Given the description of an element on the screen output the (x, y) to click on. 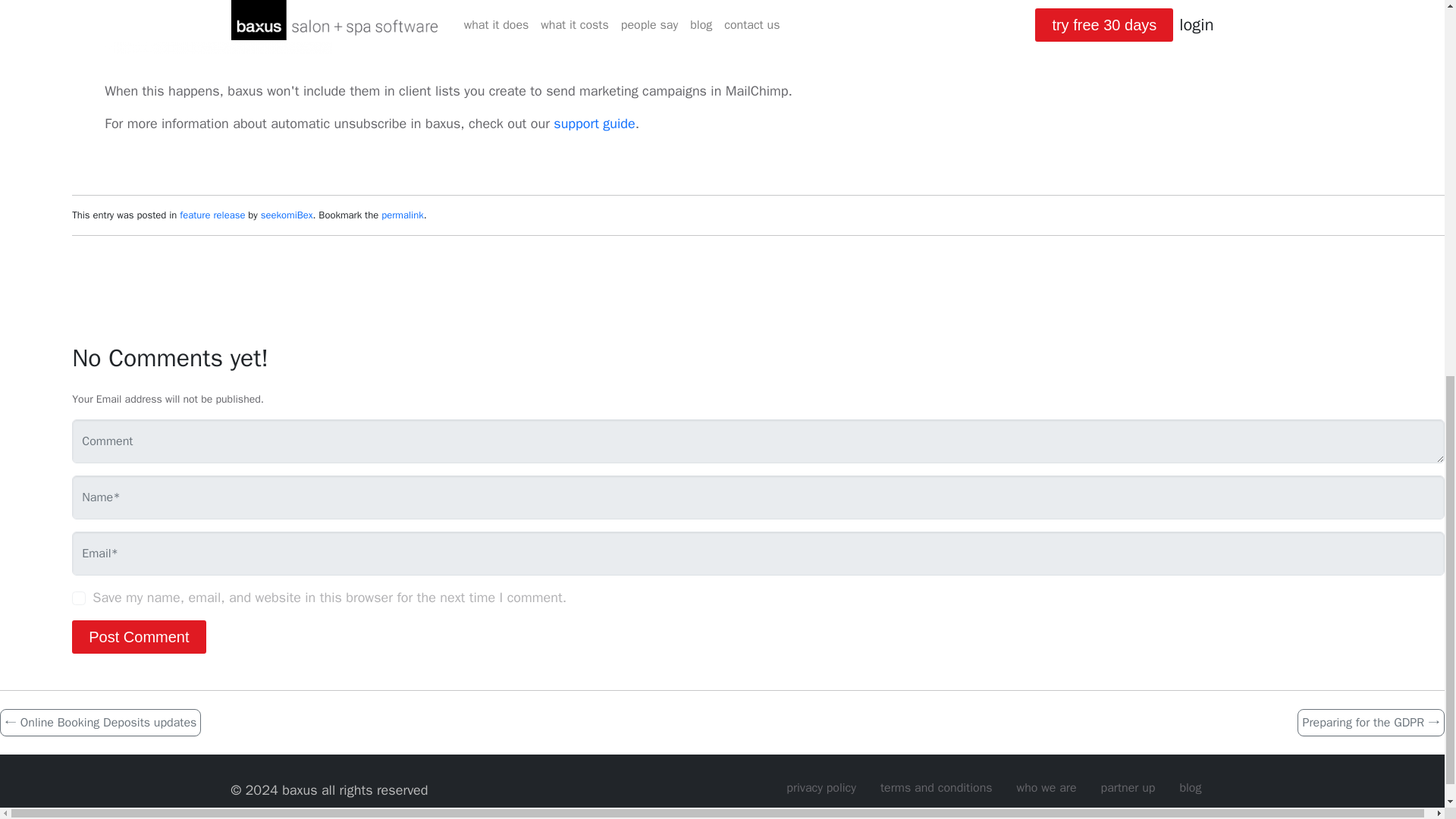
permalink (402, 214)
Preparing for the GDPR (1370, 722)
support guide (593, 123)
Online Booking Deposits updates (100, 722)
privacy policy (820, 788)
feature release (211, 214)
Post Comment (138, 636)
yes (78, 598)
seekomiBex (286, 214)
Permalink to Automatic unsubscribe for MailChimp (402, 214)
Post Comment (138, 636)
terms and conditions (935, 788)
